Given the description of an element on the screen output the (x, y) to click on. 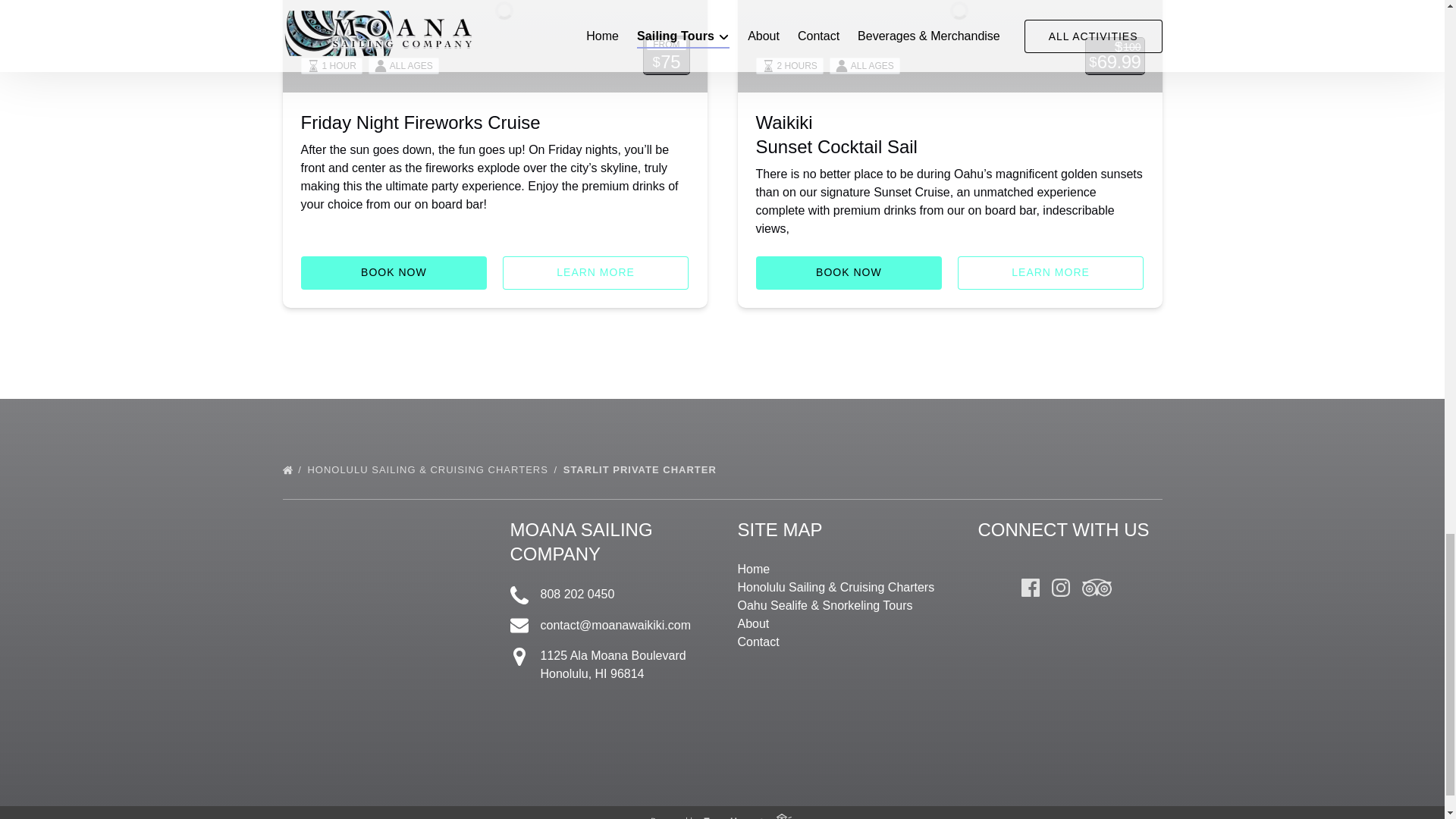
Visit our Instagram (1060, 587)
activity link (948, 46)
Visit our Facebook (1030, 587)
activity link (494, 46)
Phone (518, 595)
Envelope (518, 625)
Map Marker (518, 656)
